Given the description of an element on the screen output the (x, y) to click on. 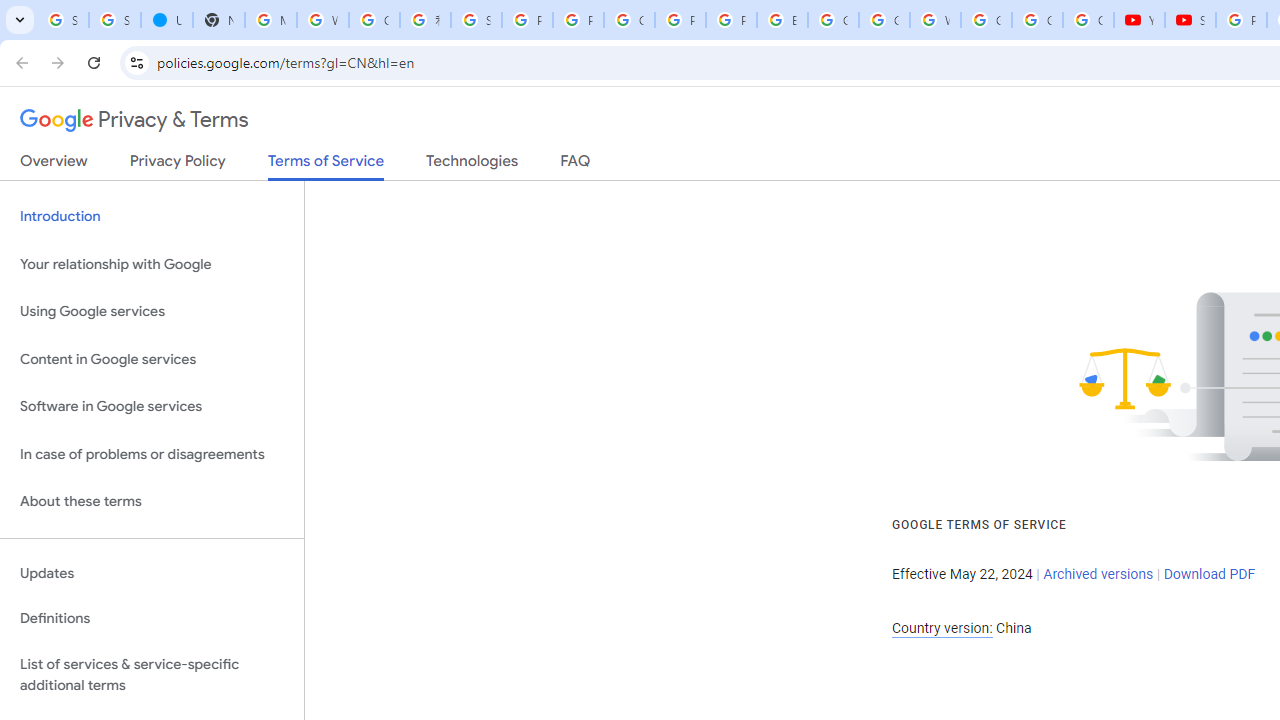
Create your Google Account (374, 20)
Edit and view right-to-left text - Google Docs Editors Help (781, 20)
Subscriptions - YouTube (1189, 20)
